Given the description of an element on the screen output the (x, y) to click on. 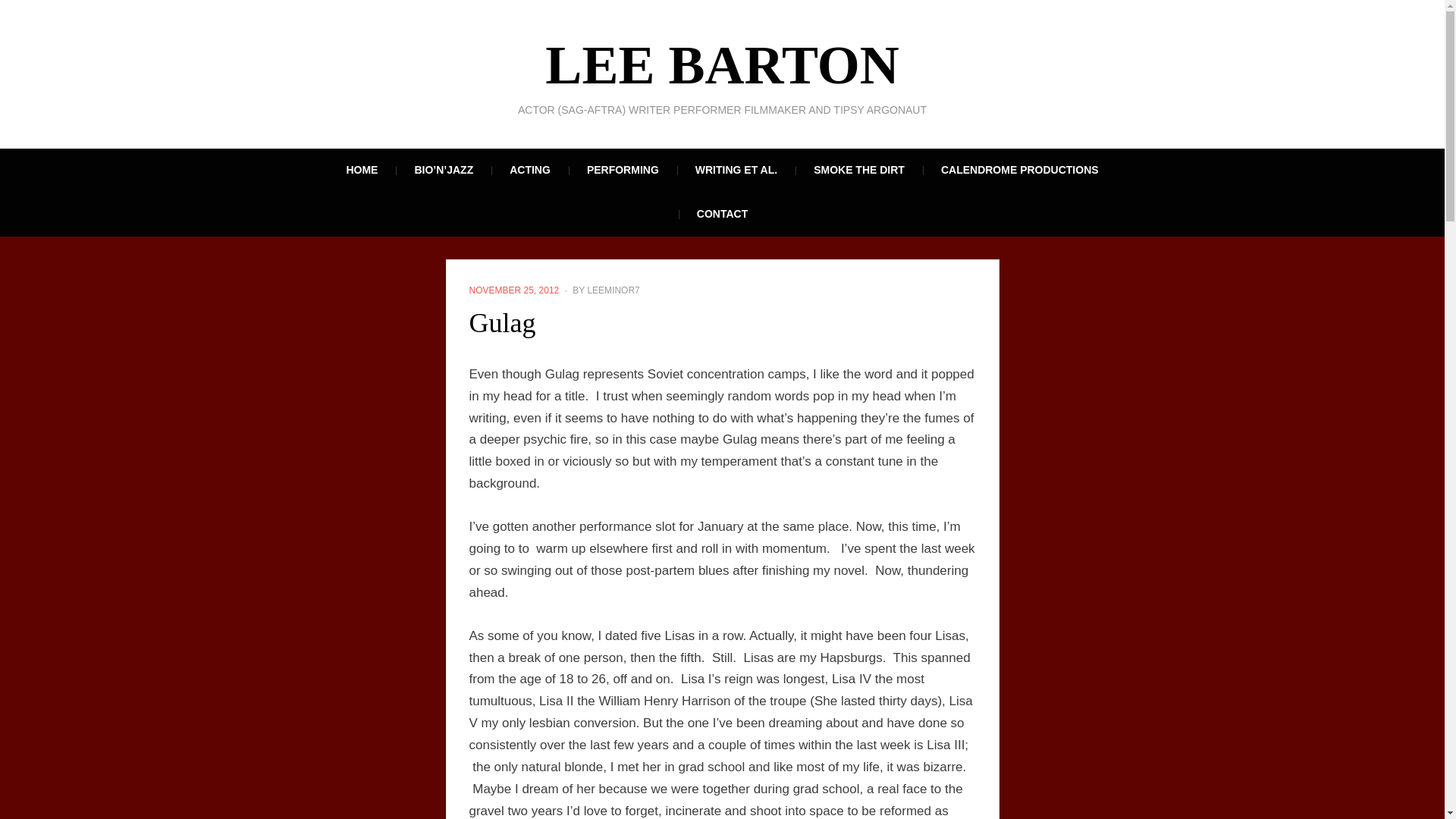
SMOKE THE DIRT (858, 170)
CONTACT (721, 214)
NOVEMBER 25, 2012 (513, 290)
CALENDROME PRODUCTIONS (1019, 170)
ACTING (530, 170)
PERFORMING (623, 170)
Lee Barton (721, 65)
LEE BARTON (721, 65)
HOME (361, 170)
LEEMINOR7 (612, 290)
